Given the description of an element on the screen output the (x, y) to click on. 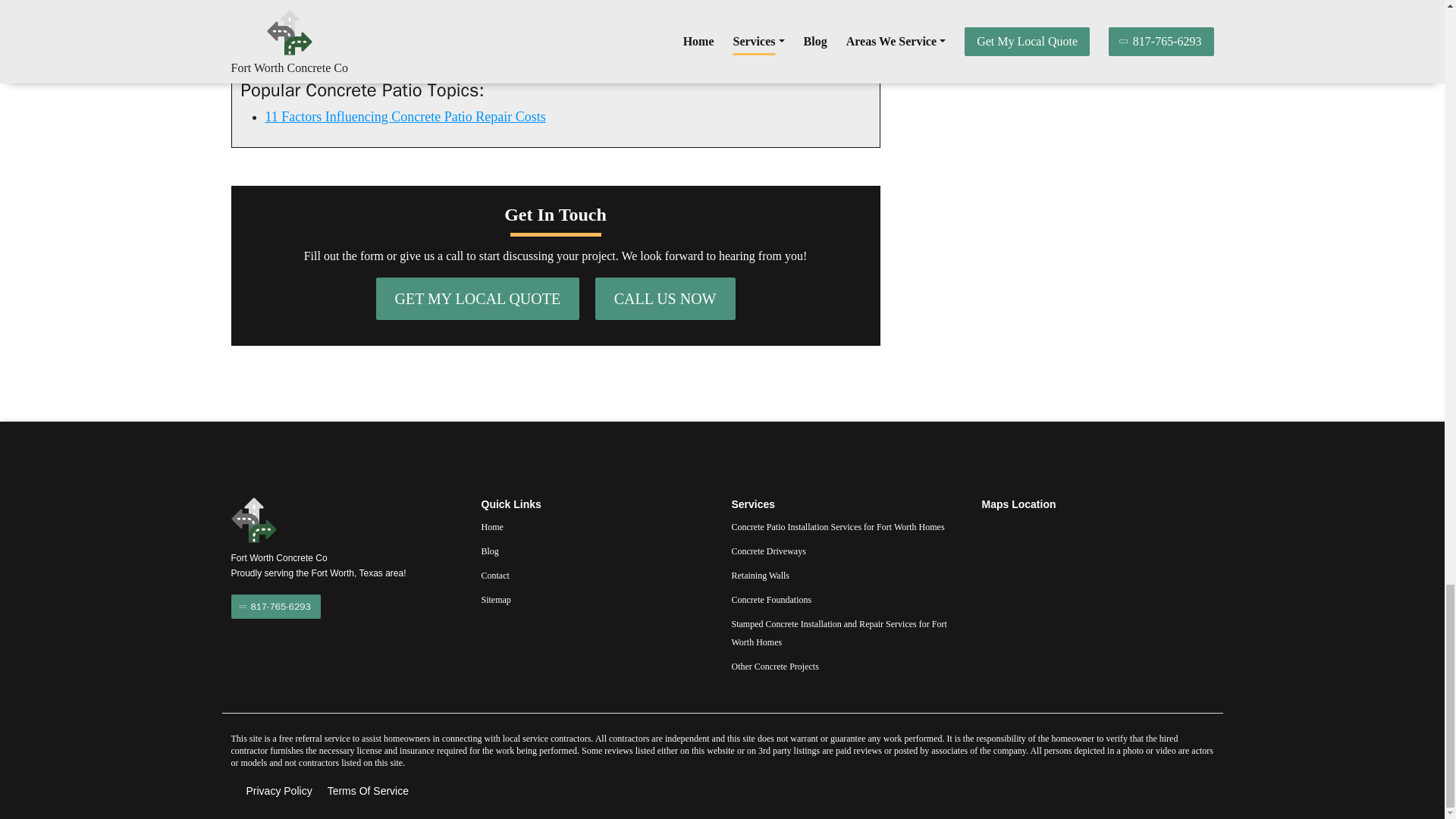
CALL US NOW (665, 298)
GET MY LOCAL QUOTE (477, 298)
11 Factors Influencing Concrete Patio Repair Costs (405, 116)
